Given the description of an element on the screen output the (x, y) to click on. 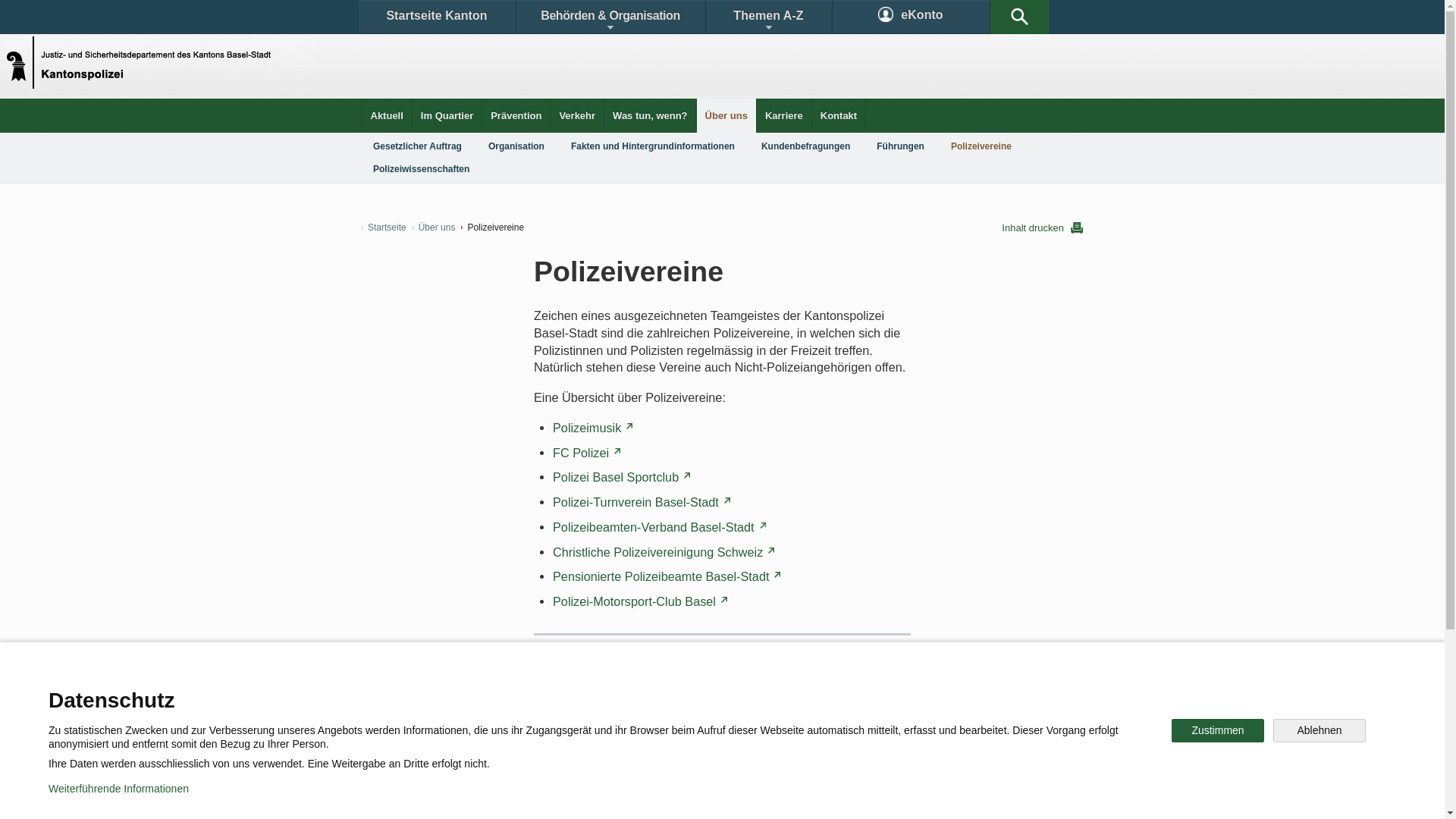
Inhalt drucken Element type: text (1041, 227)
YouTube Element type: text (839, 746)
Bild & Multimedia Element type: text (908, 693)
Polizeiwissenschaften Element type: text (420, 168)
Statistiken Element type: text (687, 693)
eKonto Element type: text (910, 17)
Nutzungsregelungen Element type: text (542, 796)
Stadtplan & Karte Element type: text (504, 693)
Karriere Element type: text (783, 115)
Polizei-Turnverein Basel-Stadt Element type: text (641, 501)
Kontakt Element type: text (406, 693)
Gesetze Element type: text (597, 693)
Pensionierte Polizeibeamte Basel-Stadt Element type: text (666, 576)
Polizei Basel Sportclub Element type: text (621, 476)
Aktuell Element type: text (386, 115)
Polizeimusik Element type: text (592, 427)
Verkehr Element type: text (576, 115)
Publikationen Element type: text (795, 693)
Fakten und Hintergrundinformationen Element type: text (652, 145)
Zustimmen Element type: text (1217, 730)
Kundenbefragungen Element type: text (805, 145)
Ablehnen Element type: text (1319, 730)
Zur mobilen Ansicht Element type: text (752, 796)
Gesetzlicher Auftrag Element type: text (417, 145)
Was tun, wenn? Element type: text (649, 115)
Polizei-Motorsport-Club Basel Element type: text (639, 601)
Twitter Element type: text (642, 746)
Instagram Element type: text (738, 746)
Im Quartier Element type: text (446, 115)
FC Polizei Element type: text (586, 452)
Facebook Element type: text (547, 746)
Startseite Kanton Element type: text (435, 17)
nach oben Element type: text (875, 647)
Polizeibeamten-Verband Basel-Stadt Element type: text (658, 526)
Impressum Element type: text (648, 796)
Startseite Element type: text (383, 227)
Kontakt Element type: text (838, 115)
Christliche Polizeivereinigung Schweiz Element type: text (663, 551)
Organisation Element type: text (515, 145)
Themen A-Z Element type: text (768, 17)
